Given the description of an element on the screen output the (x, y) to click on. 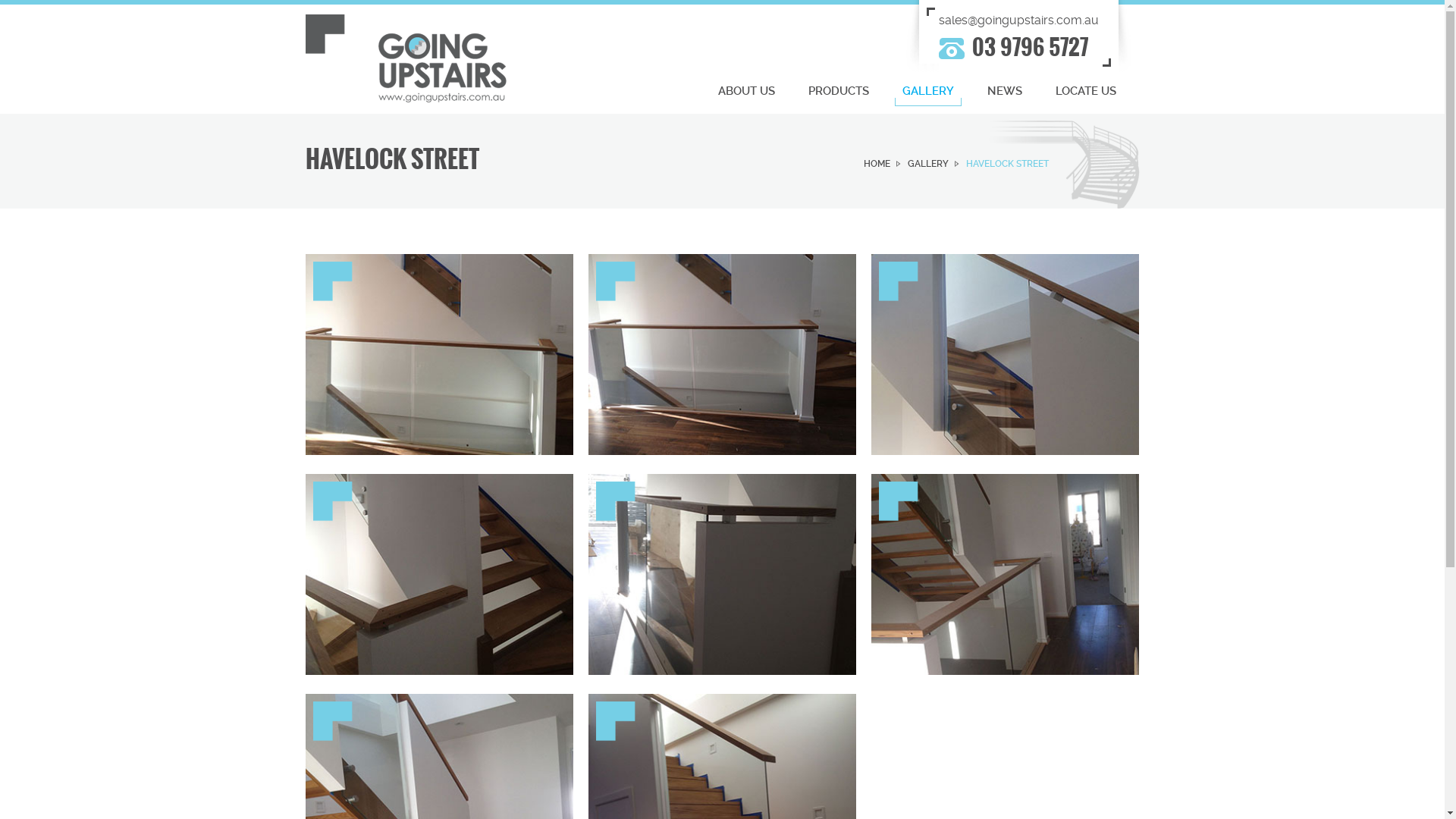
sales@goingupstairs.com.au Element type: text (1018, 19)
PRODUCTS Element type: text (838, 92)
HOME Element type: text (881, 163)
Havelock Street 4 Element type: hover (438, 573)
Havelock Street 5 Element type: hover (722, 573)
Havelock Street 1 Element type: hover (438, 354)
GALLERY Element type: text (932, 163)
NEWS Element type: text (1004, 92)
Havelock Street 6 Element type: hover (1005, 573)
Welcome To Going Upstairs Element type: hover (404, 57)
ABOUT US Element type: text (746, 92)
03 9796 5727 Element type: text (1030, 47)
LOCATE US Element type: text (1085, 92)
Havelock Street 2 Element type: hover (722, 354)
Havelock Street 3 Element type: hover (1005, 354)
GALLERY Element type: text (927, 92)
